Given the description of an element on the screen output the (x, y) to click on. 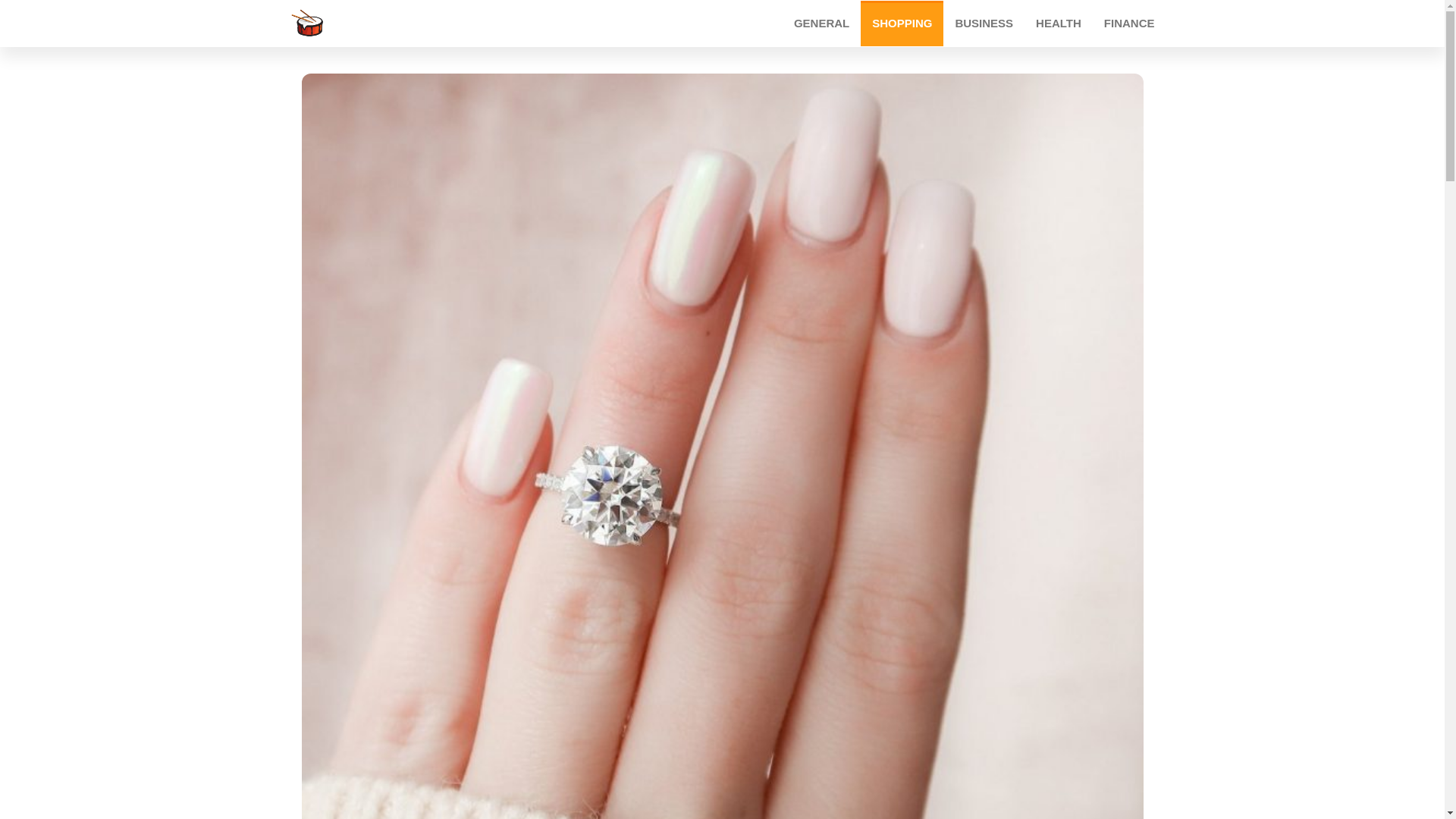
SHOPPING (901, 22)
GENERAL (821, 22)
Any Drum (445, 25)
BUSINESS (984, 22)
Health (1059, 22)
FINANCE (1129, 22)
Shopping (901, 22)
Business (984, 22)
General (821, 22)
HEALTH (1059, 22)
